Given the description of an element on the screen output the (x, y) to click on. 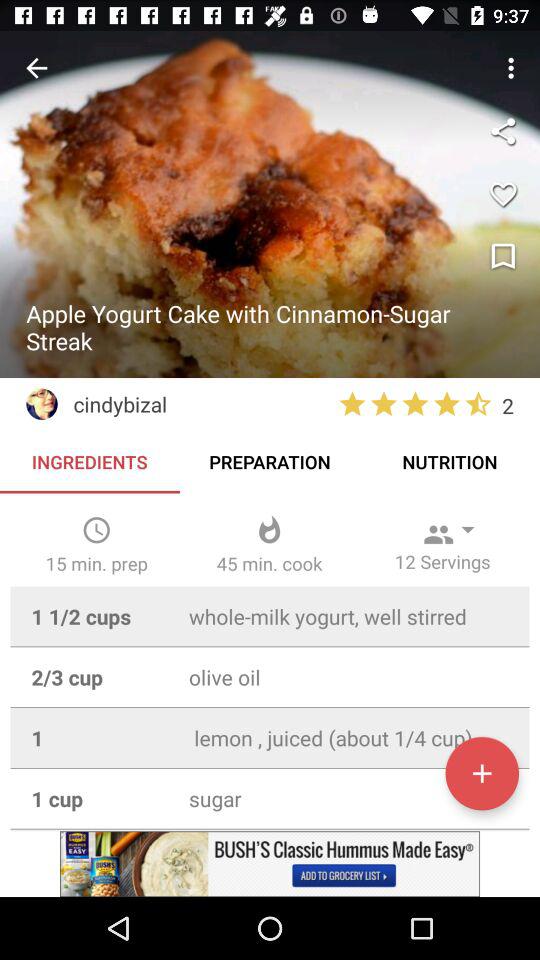
add to my stuff (482, 773)
